Given the description of an element on the screen output the (x, y) to click on. 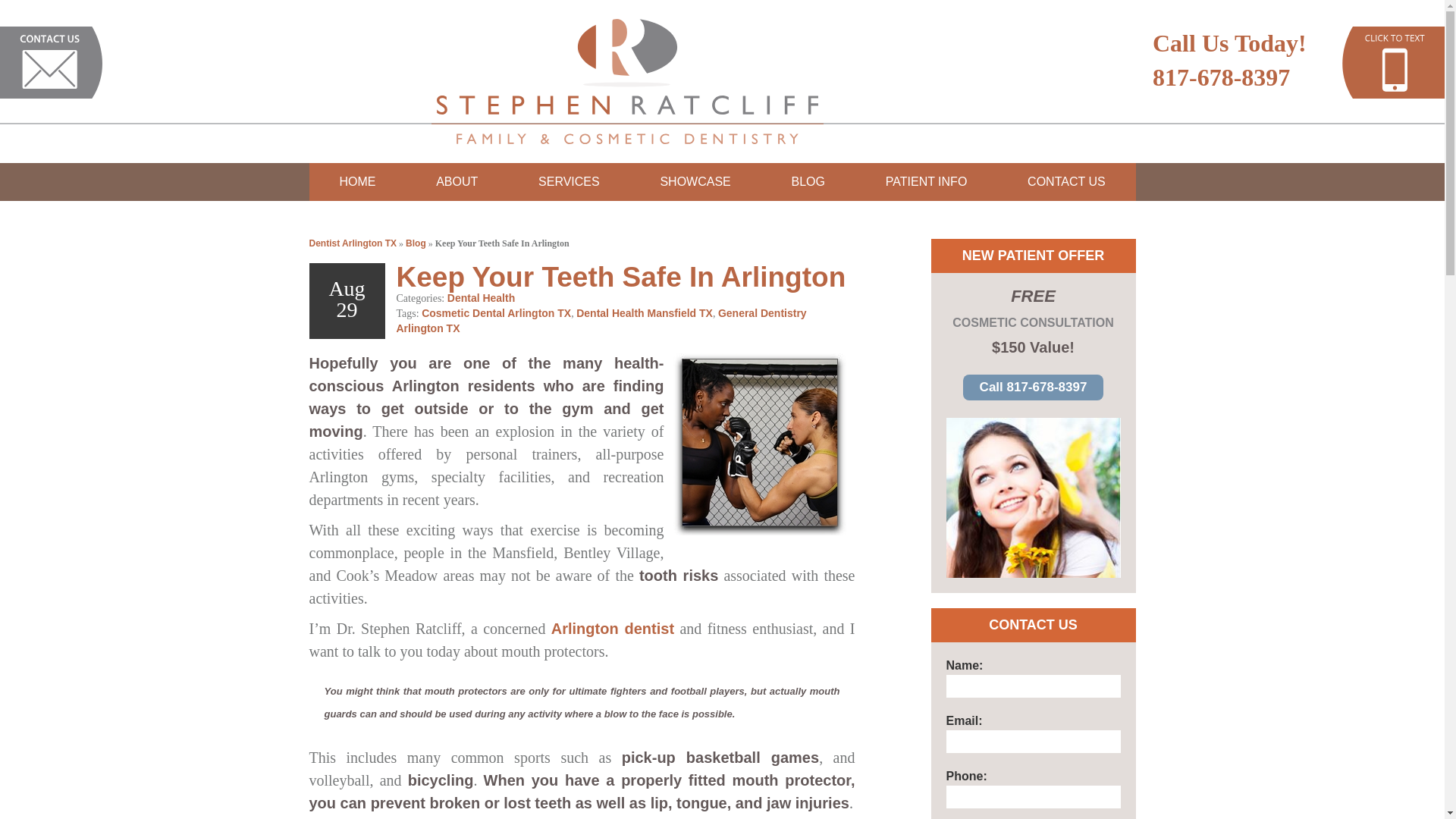
SERVICES (568, 181)
HOME (357, 181)
ABOUT (457, 181)
